Given the description of an element on the screen output the (x, y) to click on. 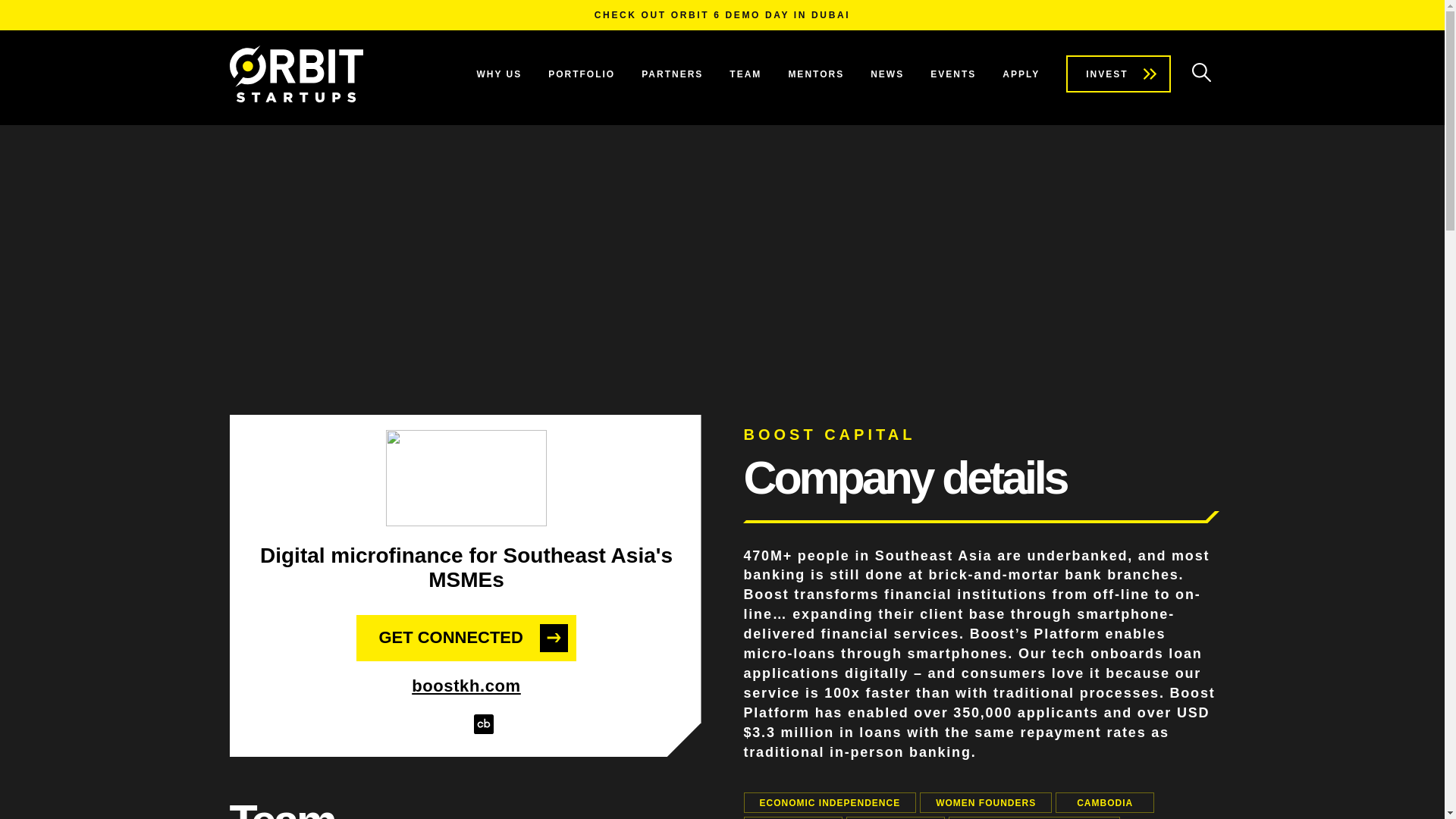
PRE-SEED (791, 817)
PORTFOLIO (581, 73)
ECONOMIC INDEPENDENCE (828, 802)
NEWS (887, 73)
APPLY (1021, 73)
PARTNERS (672, 73)
MENTORS (816, 73)
CAMBODIA (1104, 802)
TEAM (745, 73)
boostkh.com (466, 685)
